Given the description of an element on the screen output the (x, y) to click on. 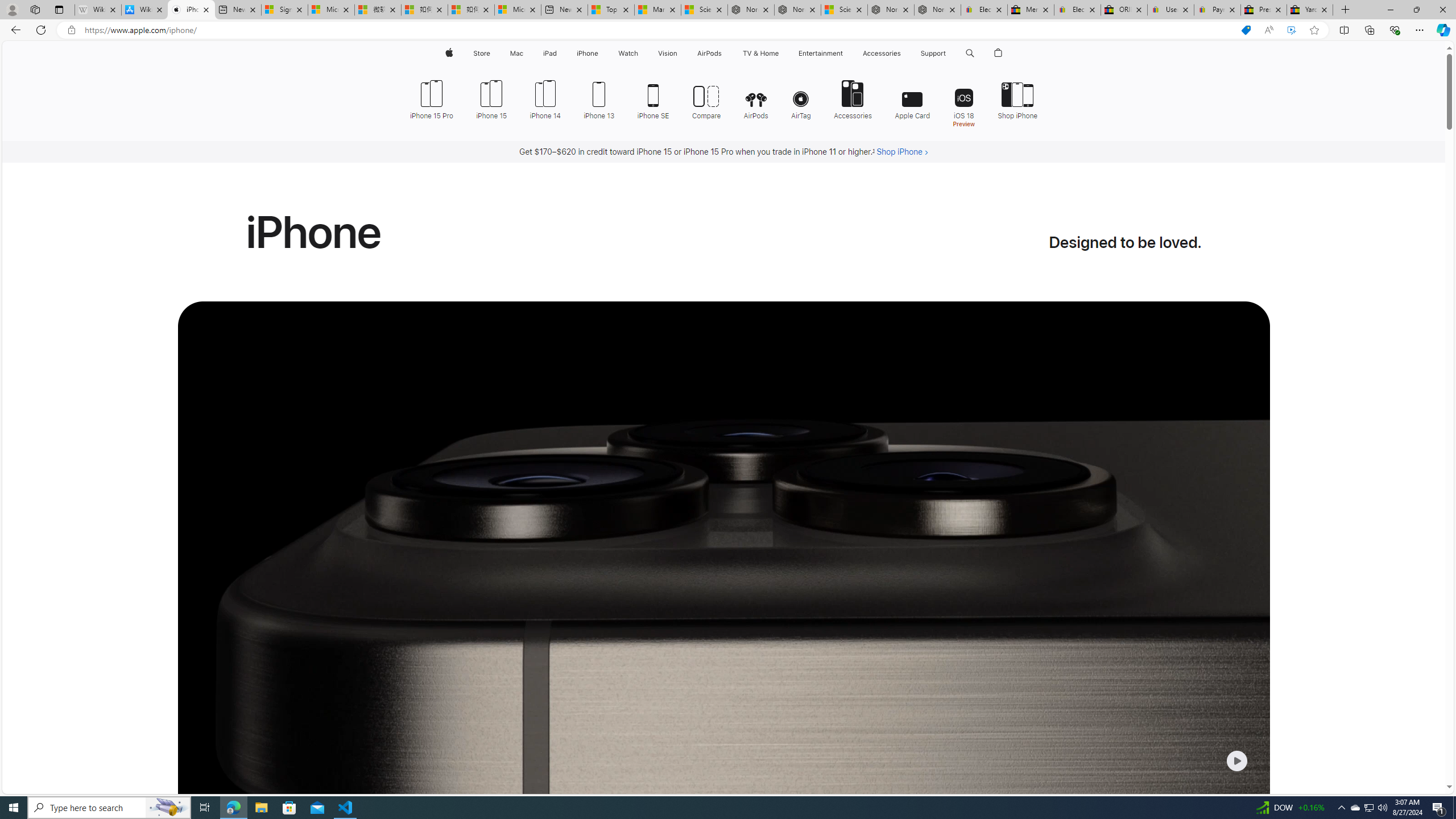
Class: globalnav-submenu-trigger-item (948, 53)
iPhone 15 (491, 98)
iPhone 15 Pro (435, 98)
iOS 18Preview (962, 101)
Shop iPhone (1012, 98)
Press Room - eBay Inc. (1263, 9)
Support menu (948, 53)
Vision (667, 53)
iPad menu (557, 53)
Support (932, 53)
